Given the description of an element on the screen output the (x, y) to click on. 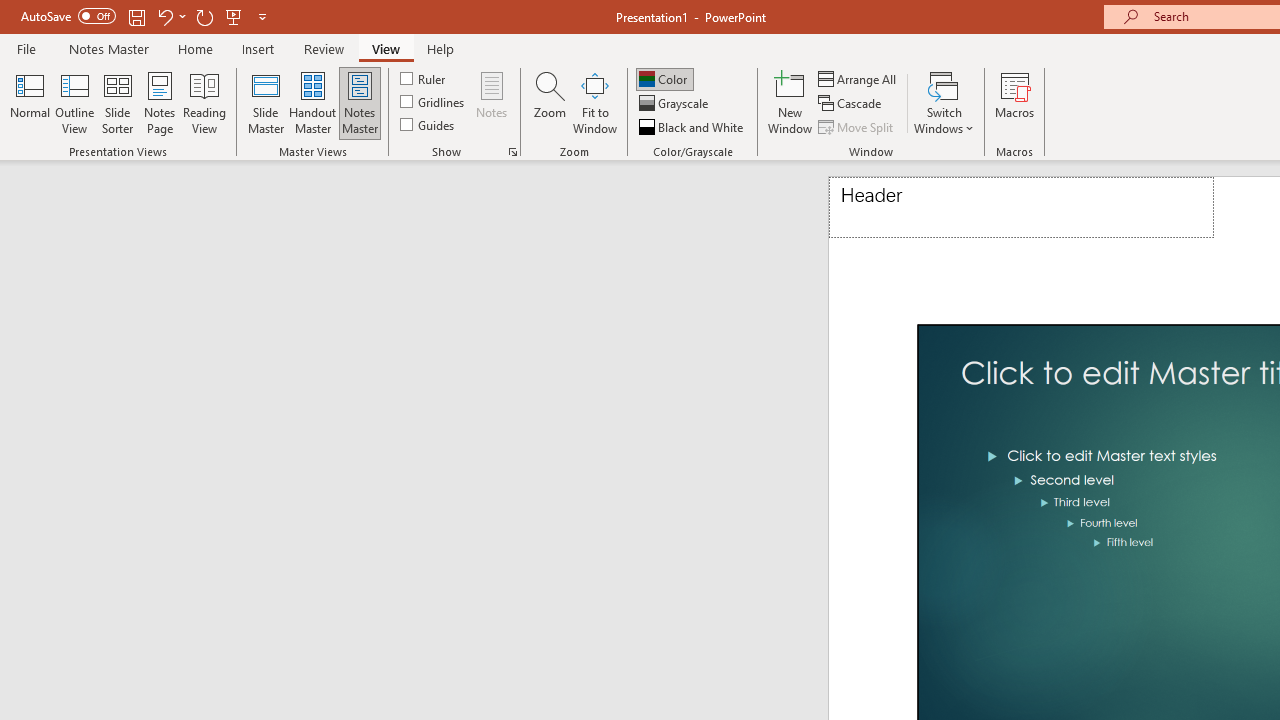
Switch Windows (943, 102)
Outline View (74, 102)
Zoom... (549, 102)
New Window (790, 102)
Notes (492, 102)
